Given the description of an element on the screen output the (x, y) to click on. 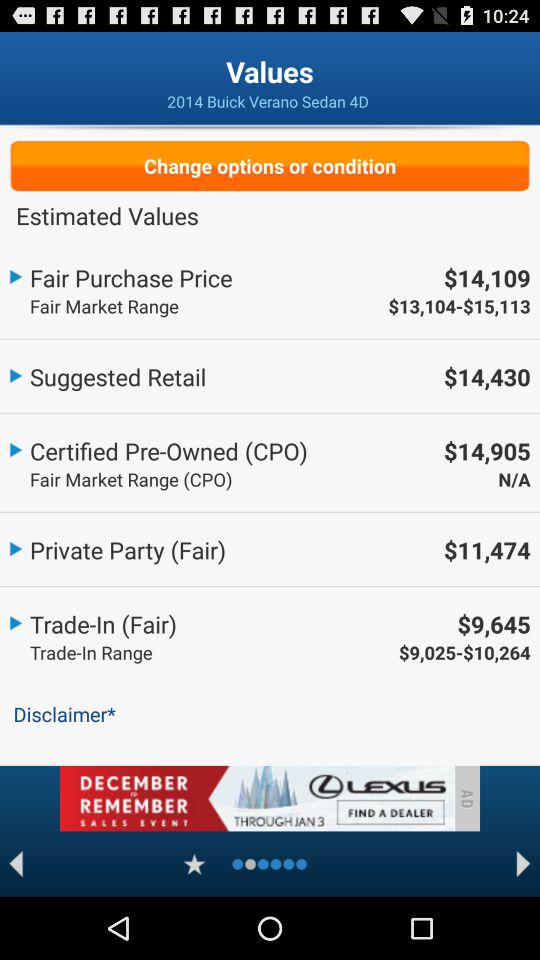
favorite item (194, 864)
